Given the description of an element on the screen output the (x, y) to click on. 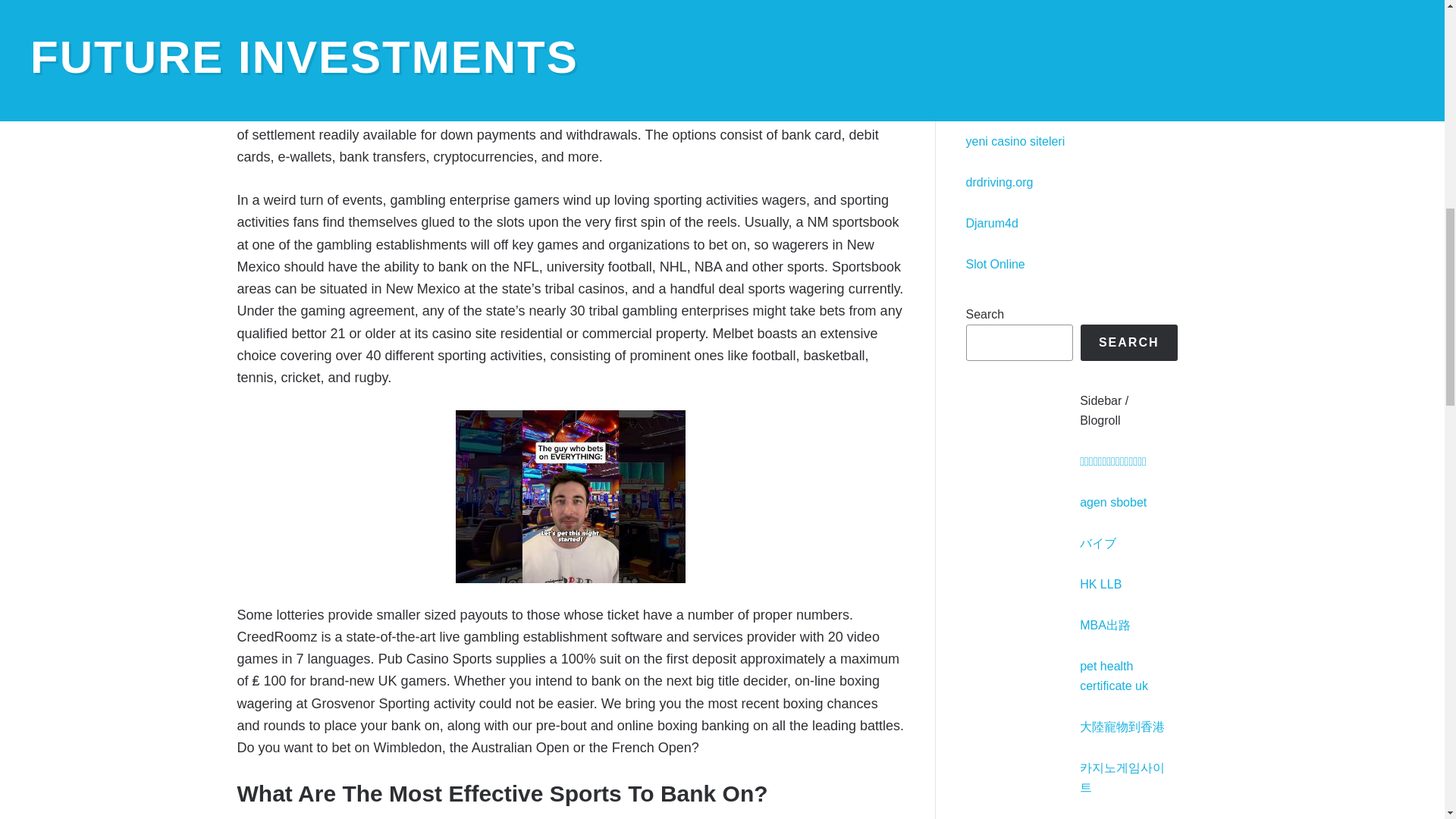
agen sbobet (1113, 502)
pet health certificate uk (1114, 676)
Live Macau (996, 18)
drdriving.org (999, 182)
HK LLB (1100, 584)
Djarum4d (991, 223)
win 4d (255, 4)
Slot Online (995, 264)
yeni casino siteleri (1015, 141)
SEARCH (1128, 342)
